Given the description of an element on the screen output the (x, y) to click on. 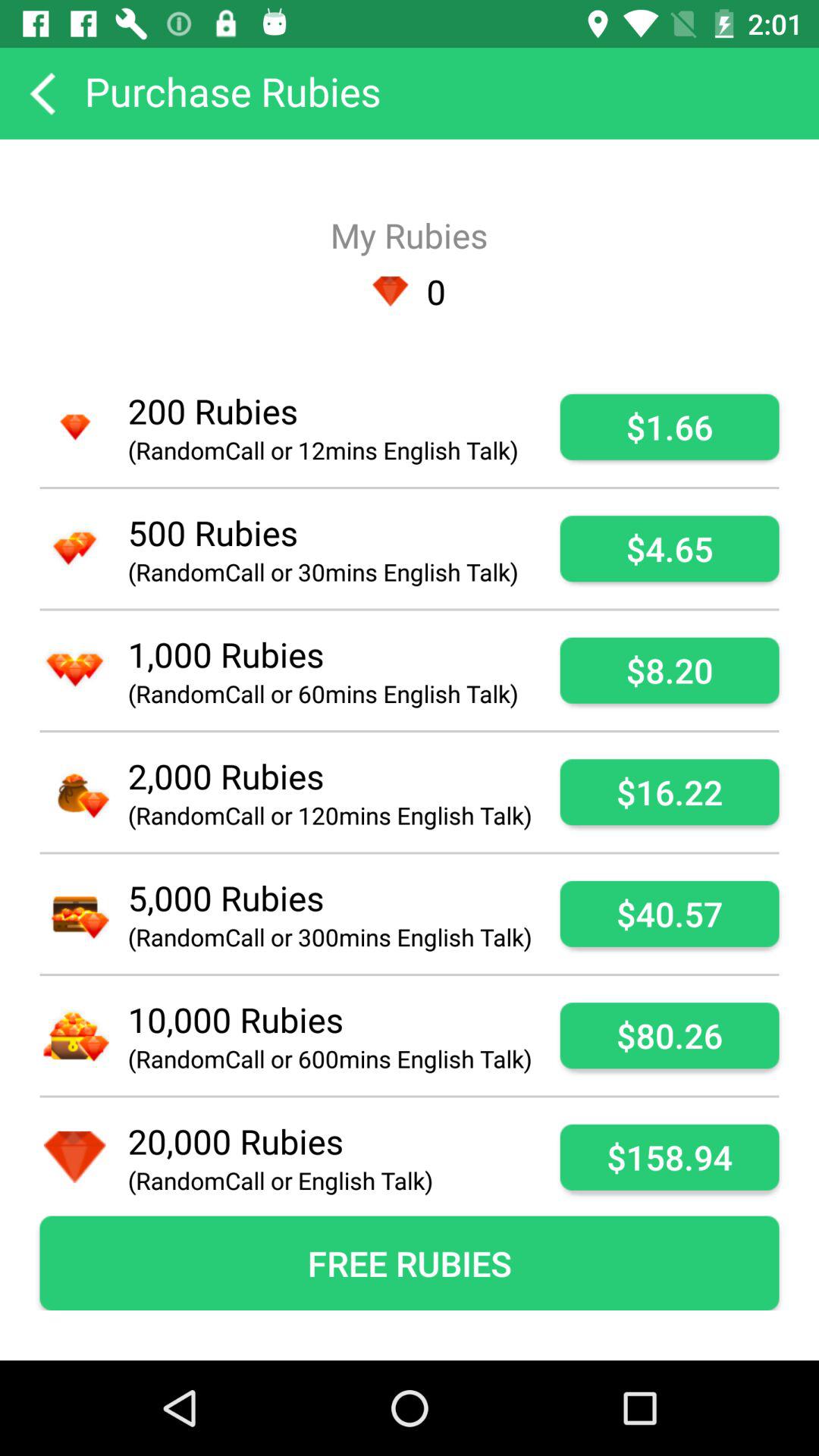
flip until the $1.66 item (669, 427)
